Given the description of an element on the screen output the (x, y) to click on. 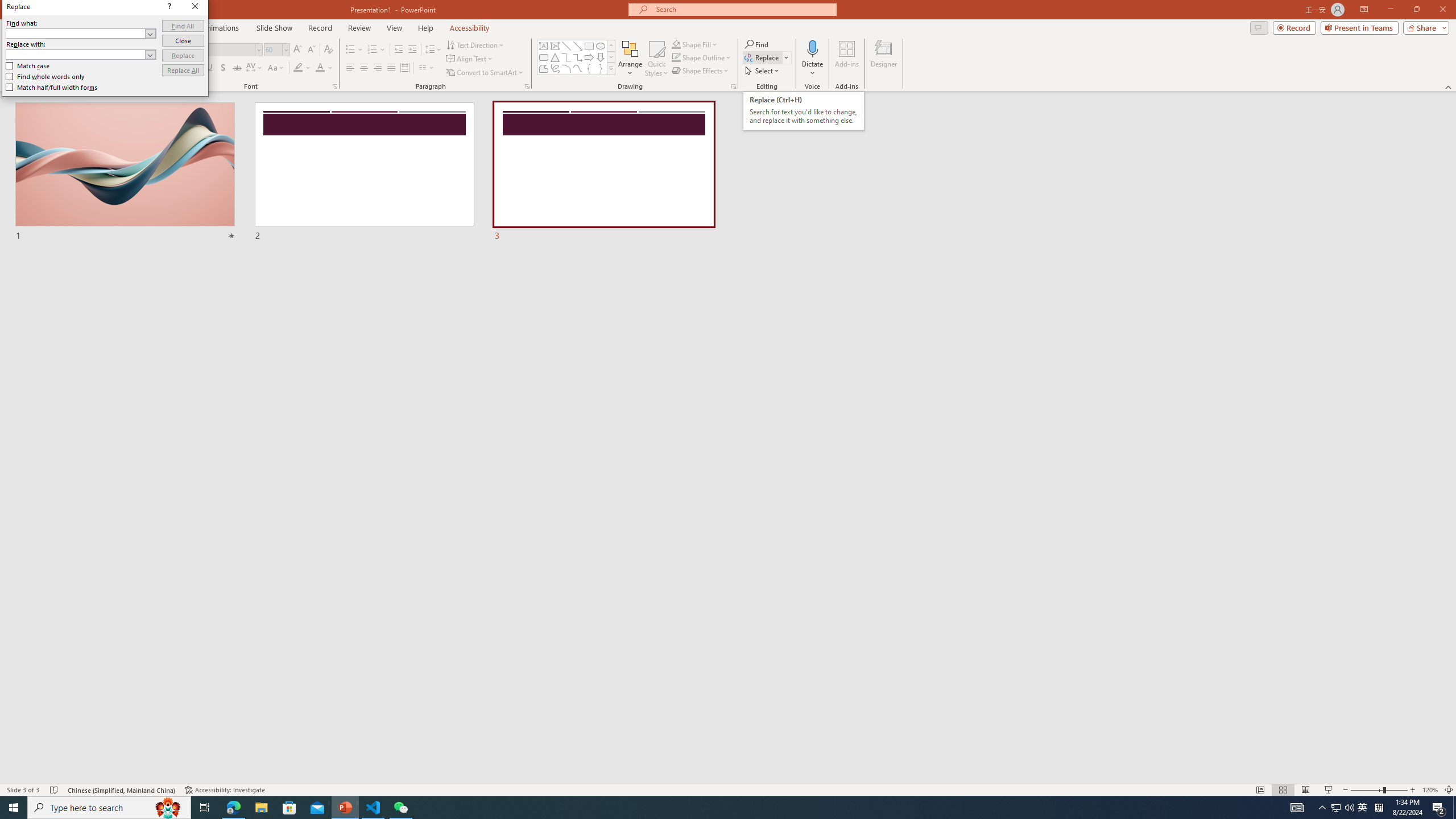
Find what (80, 33)
WeChat - 1 running window (400, 807)
Replace with (80, 54)
